Given the description of an element on the screen output the (x, y) to click on. 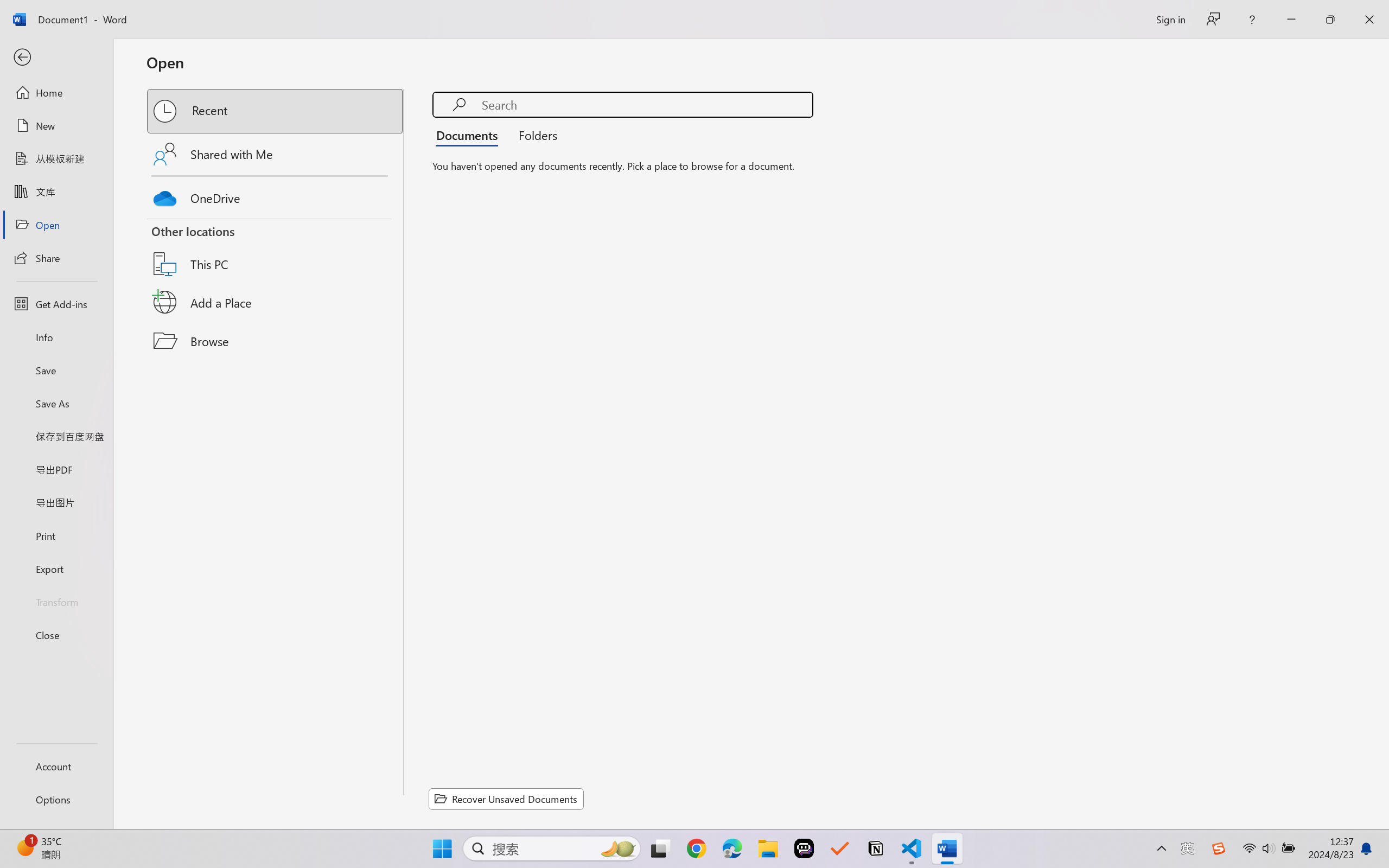
Print (56, 535)
Shared with Me (275, 153)
Export (56, 568)
Browse (275, 340)
Save As (56, 403)
